Given the description of an element on the screen output the (x, y) to click on. 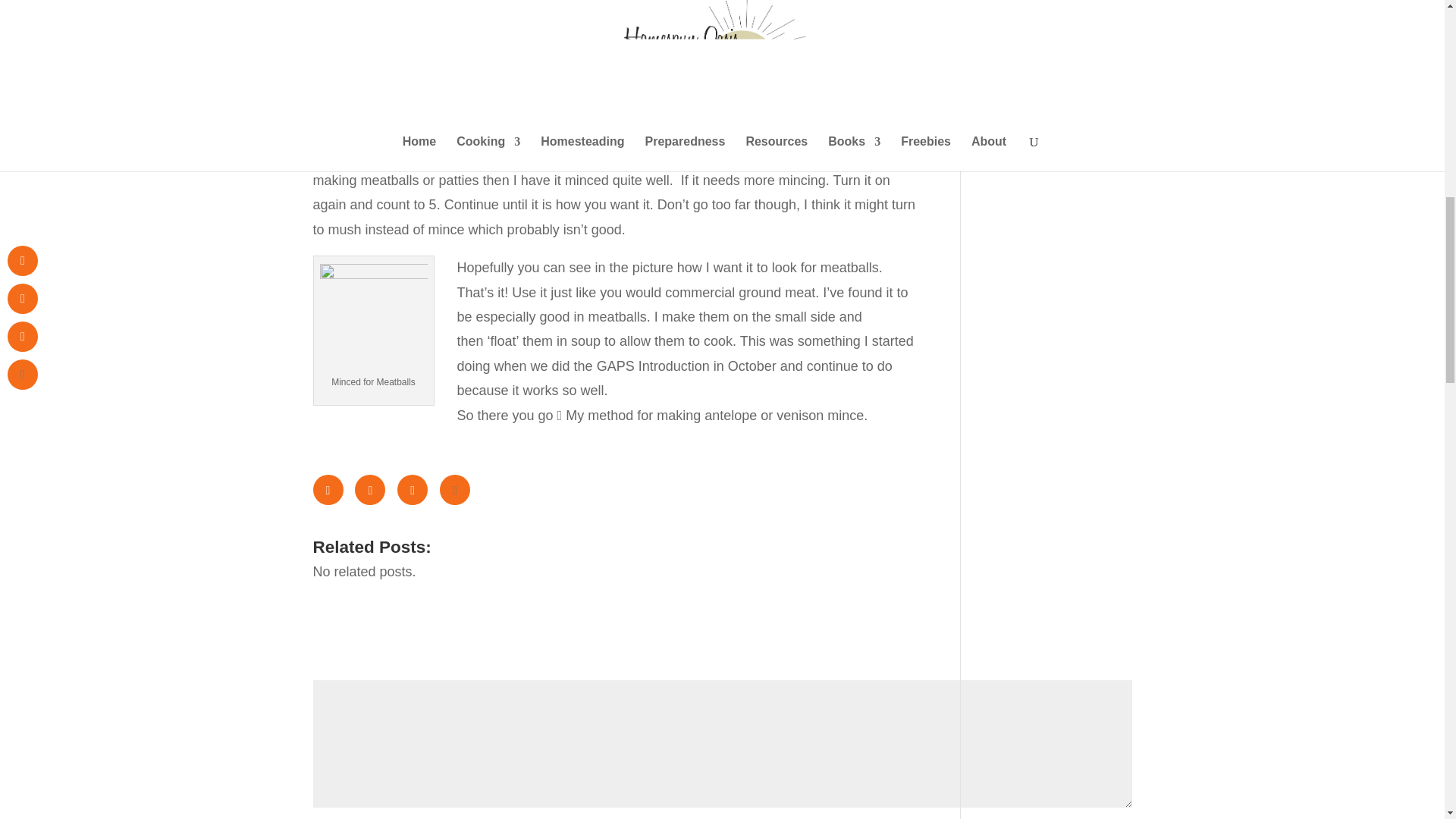
OLYMPUS DIGITAL CAMERA (374, 316)
OLYMPUS DIGITAL CAMERA (855, 11)
